Given the description of an element on the screen output the (x, y) to click on. 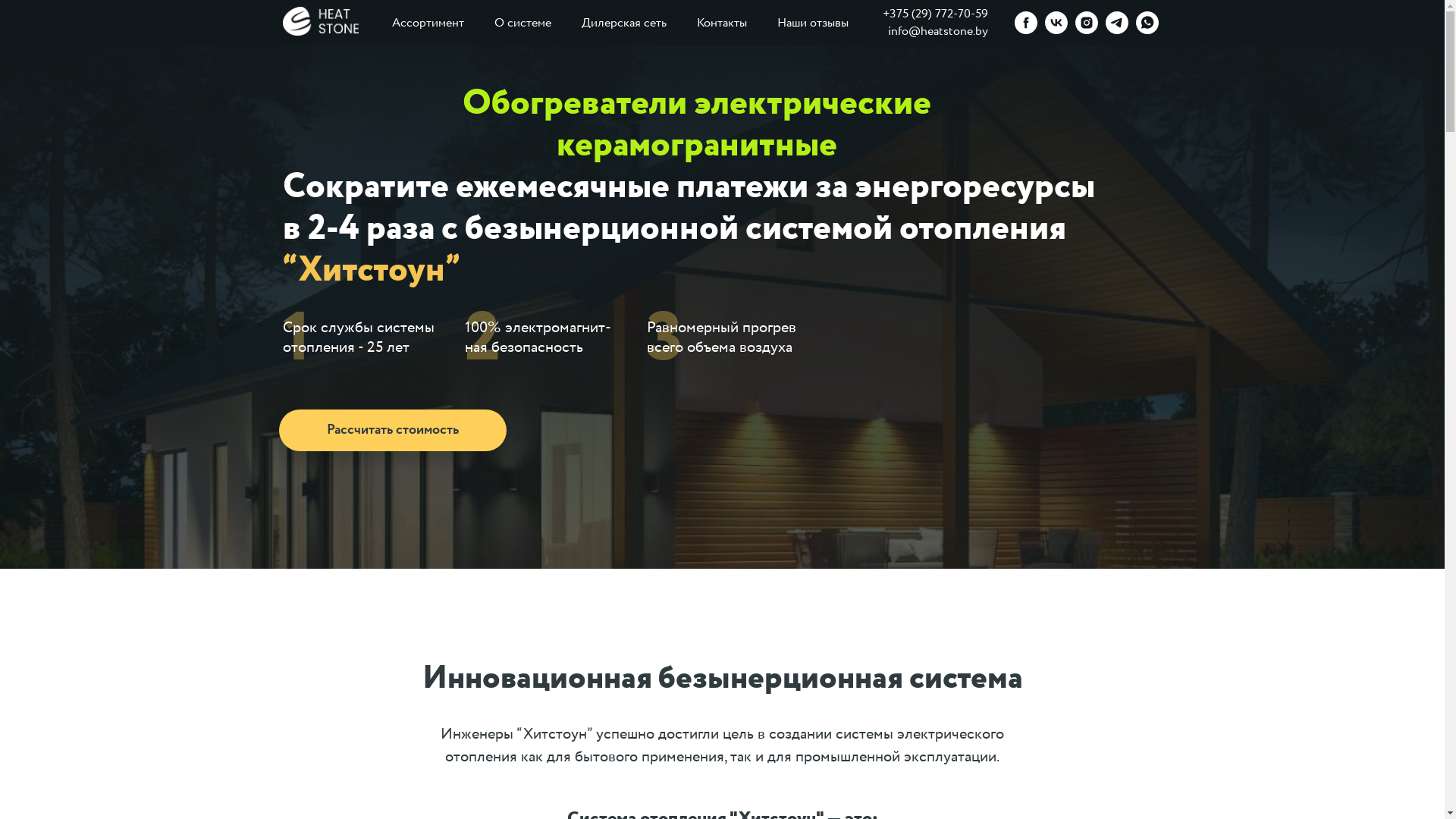
+375 (29) 772-70-59 Element type: text (935, 13)
info@heatstone.by Element type: text (937, 31)
